Given the description of an element on the screen output the (x, y) to click on. 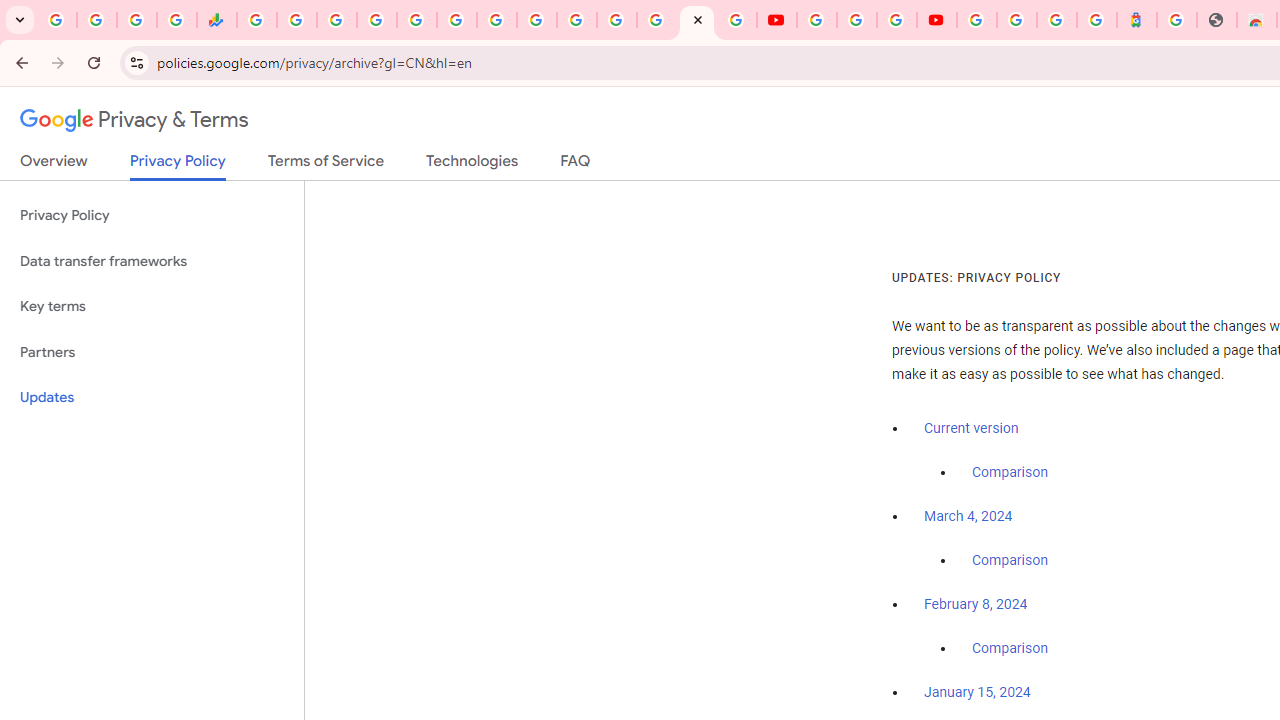
Comparison (1009, 649)
Partners (152, 352)
Privacy Checkup (736, 20)
Data transfer frameworks (152, 261)
Sign in - Google Accounts (657, 20)
